Given the description of an element on the screen output the (x, y) to click on. 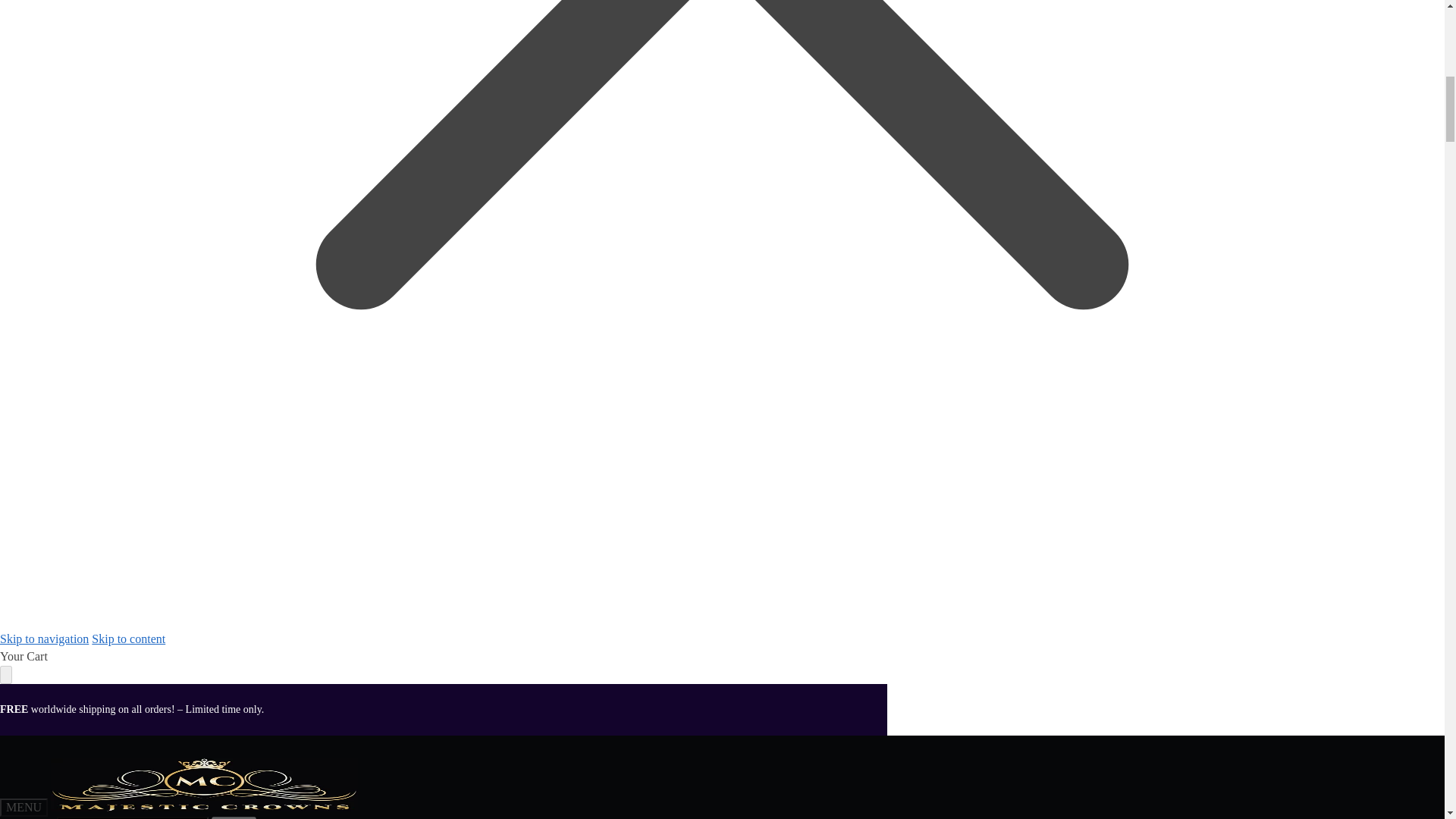
Search (234, 817)
Skip to content (128, 638)
MENU (24, 807)
Skip to navigation (44, 638)
